Given the description of an element on the screen output the (x, y) to click on. 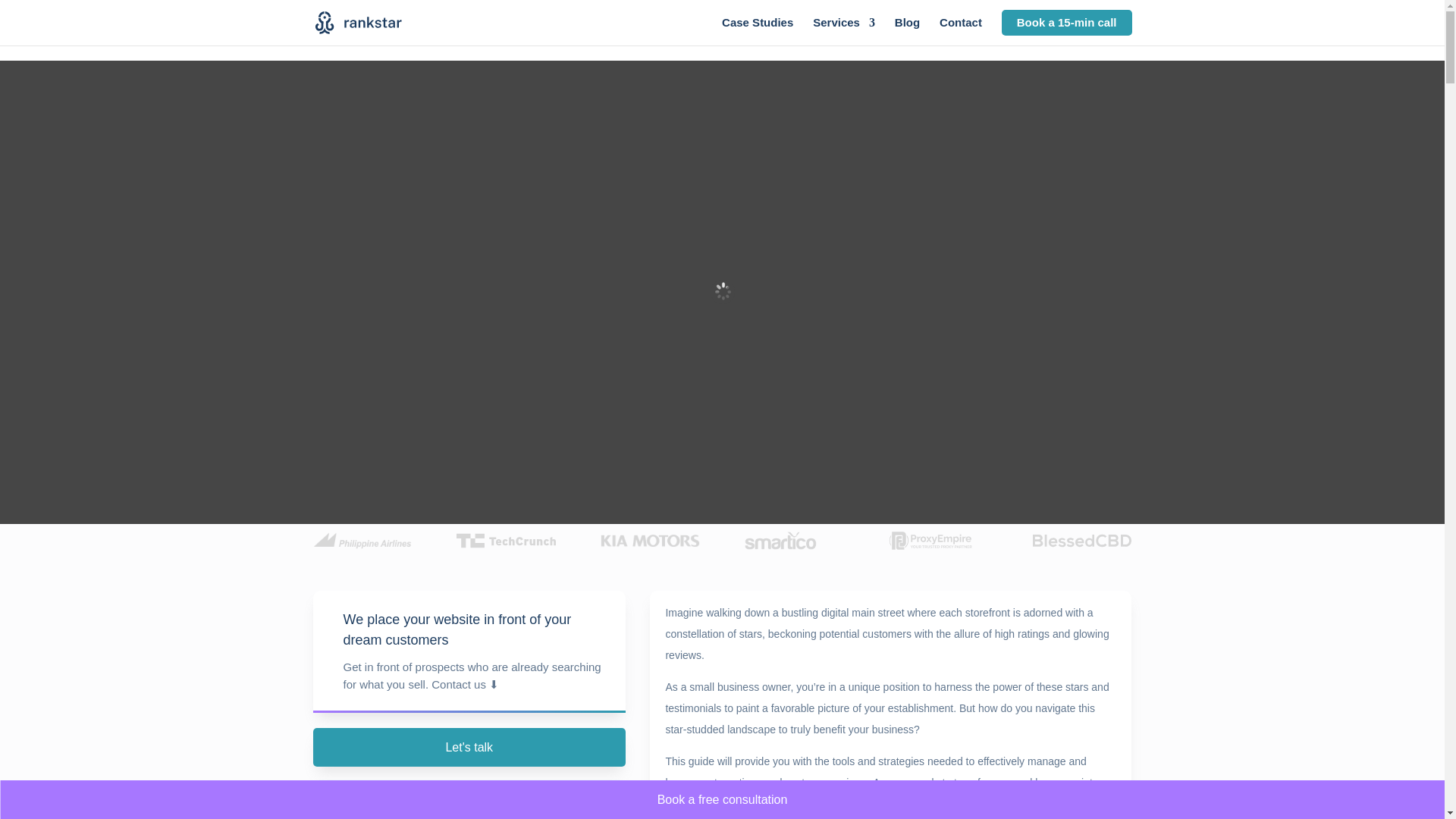
kia-01 (648, 540)
techcrunch (505, 540)
Book a 15-min call (1066, 22)
logo-purple-proxyempire-01-01 (930, 540)
Blog (907, 31)
Let's talk (469, 747)
Services (843, 31)
Contact (960, 31)
Case Studies (757, 31)
